Given the description of an element on the screen output the (x, y) to click on. 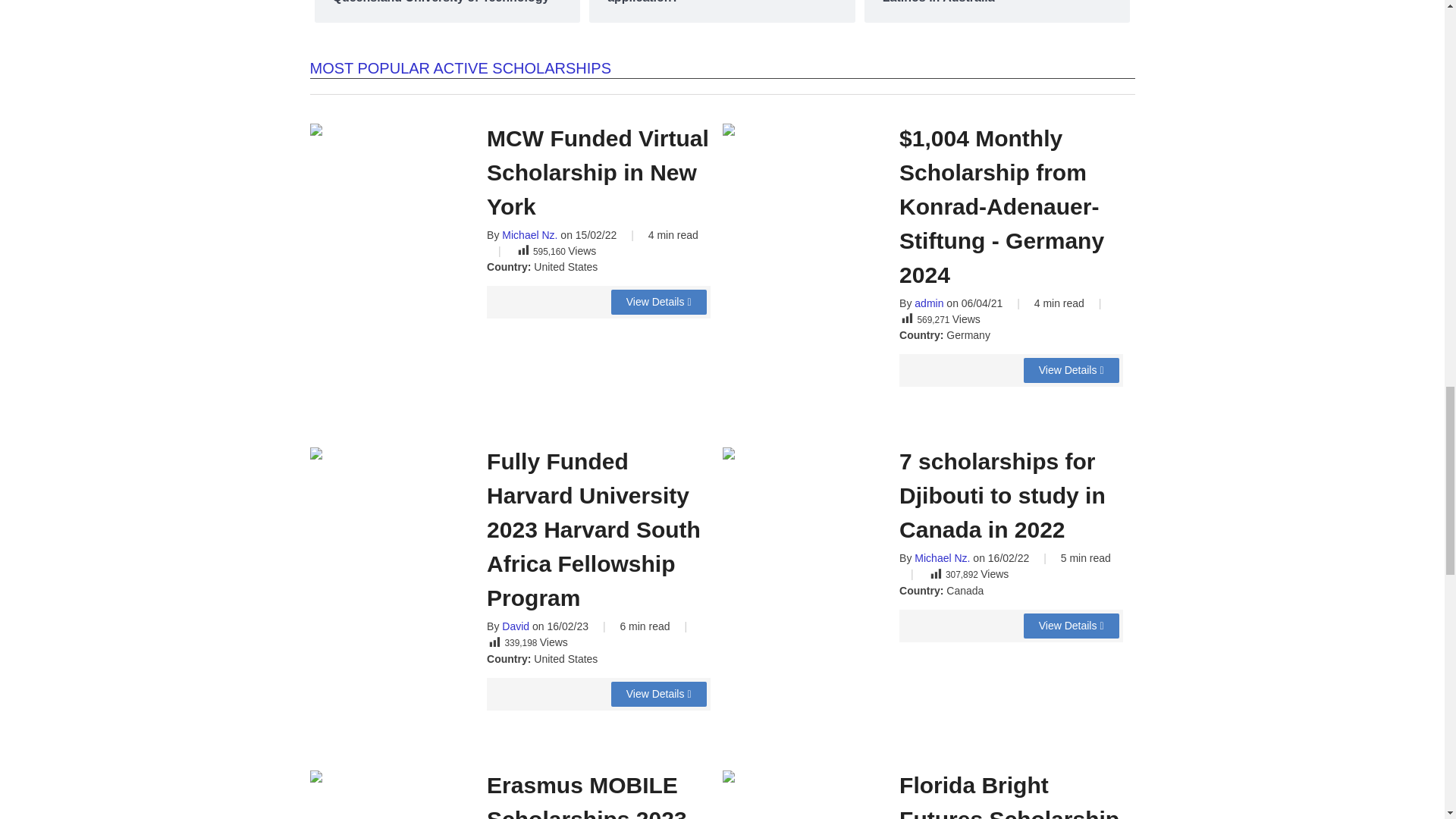
MCW Funded Virtual Scholarship in New York (658, 301)
7 scholarships for Djibouti to study in Canada in 2022 (1071, 625)
